Given the description of an element on the screen output the (x, y) to click on. 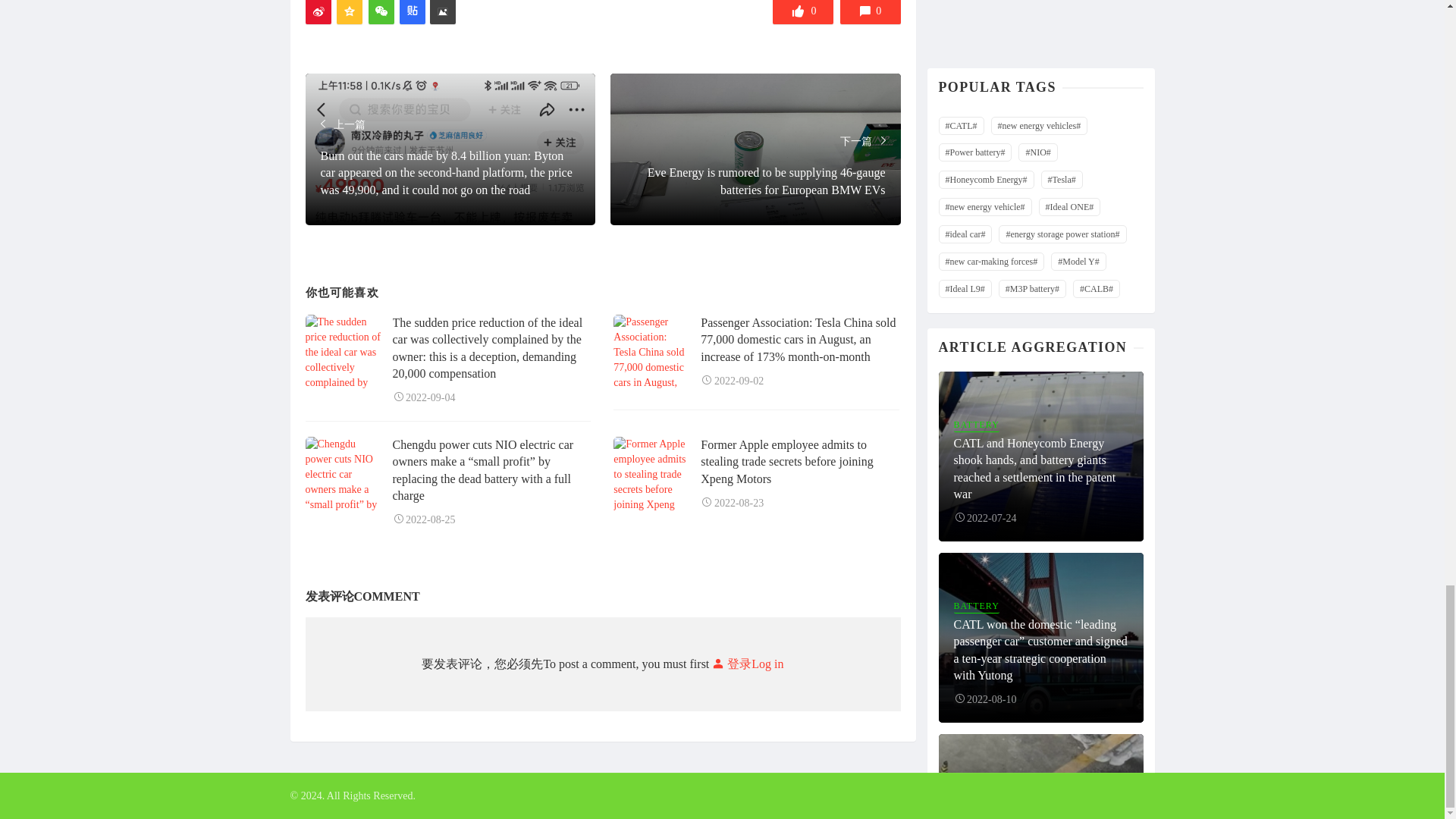
2022-08-25 (424, 519)
2022-09-02 (731, 380)
0 (802, 12)
2022-09-04 (424, 397)
2022-08-23 (731, 501)
0 (870, 12)
